Given the description of an element on the screen output the (x, y) to click on. 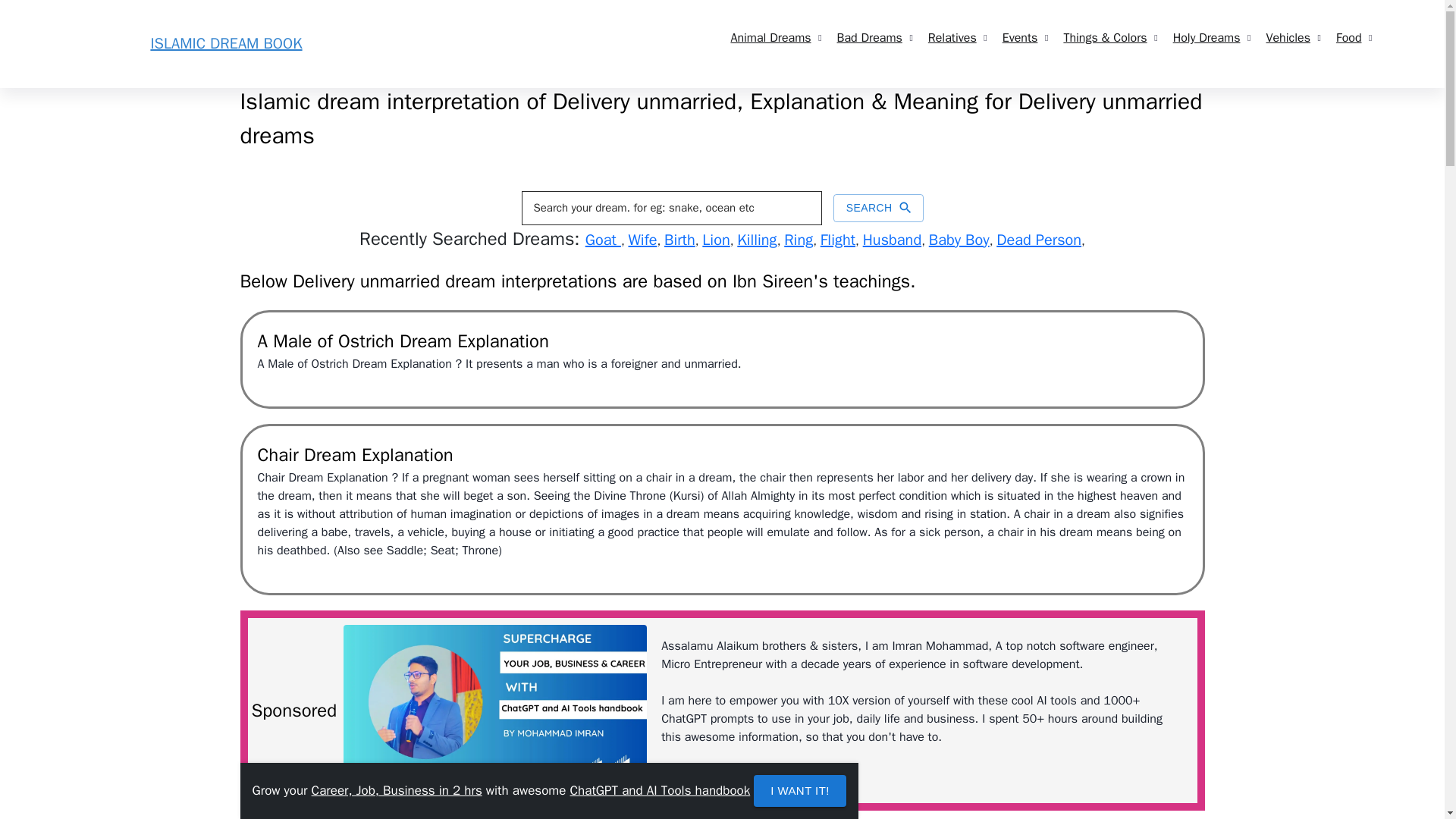
ISLAMIC DREAM BOOK (225, 43)
Animal Dreams (770, 38)
